Given the description of an element on the screen output the (x, y) to click on. 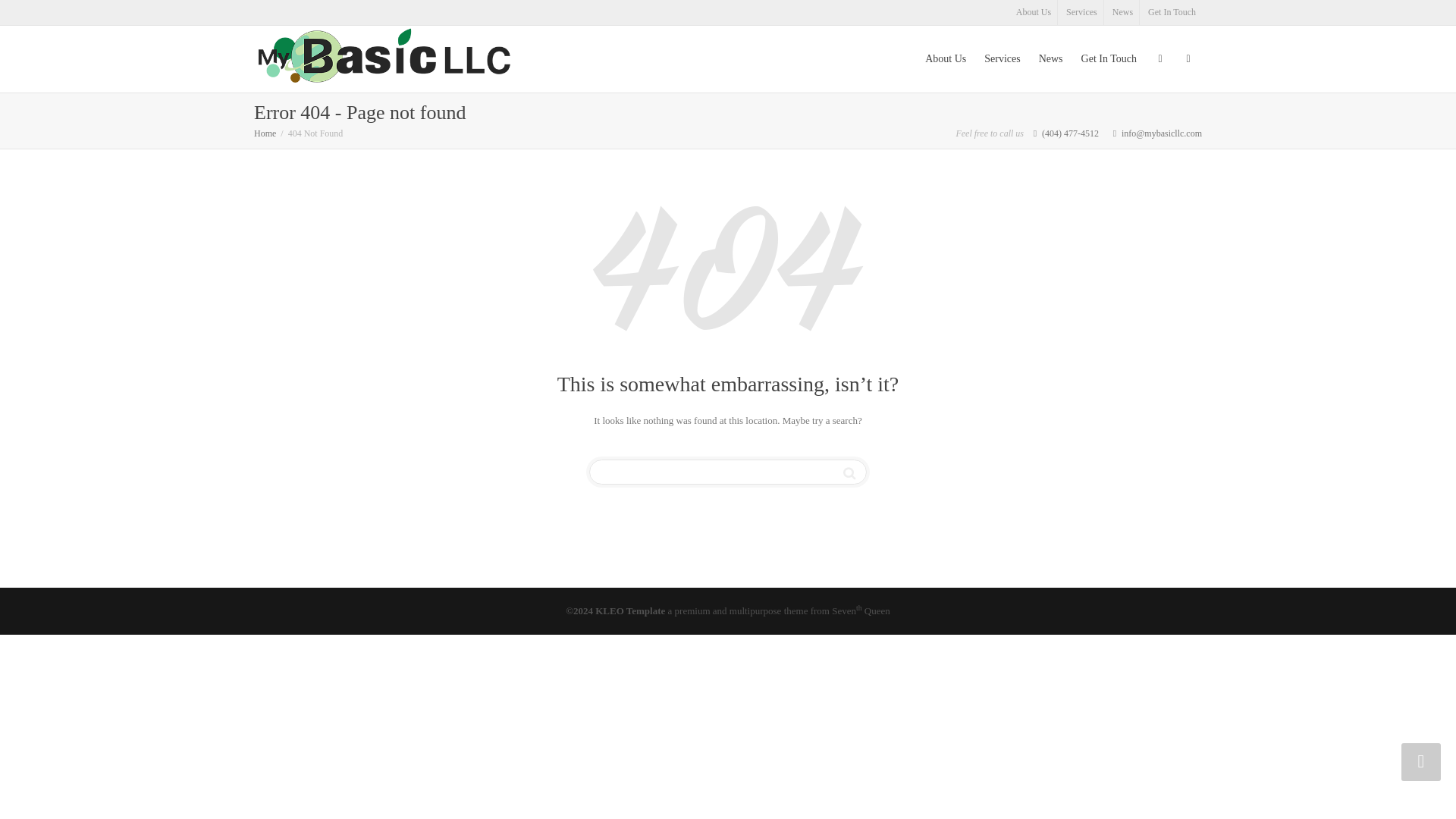
News (1123, 12)
Search (849, 473)
About Us (1034, 12)
Services (1081, 12)
News (1123, 12)
Get In Touch (1171, 12)
Services (1081, 12)
Seventh Queen (860, 610)
Home (264, 132)
My Basic LLC (383, 58)
